Given the description of an element on the screen output the (x, y) to click on. 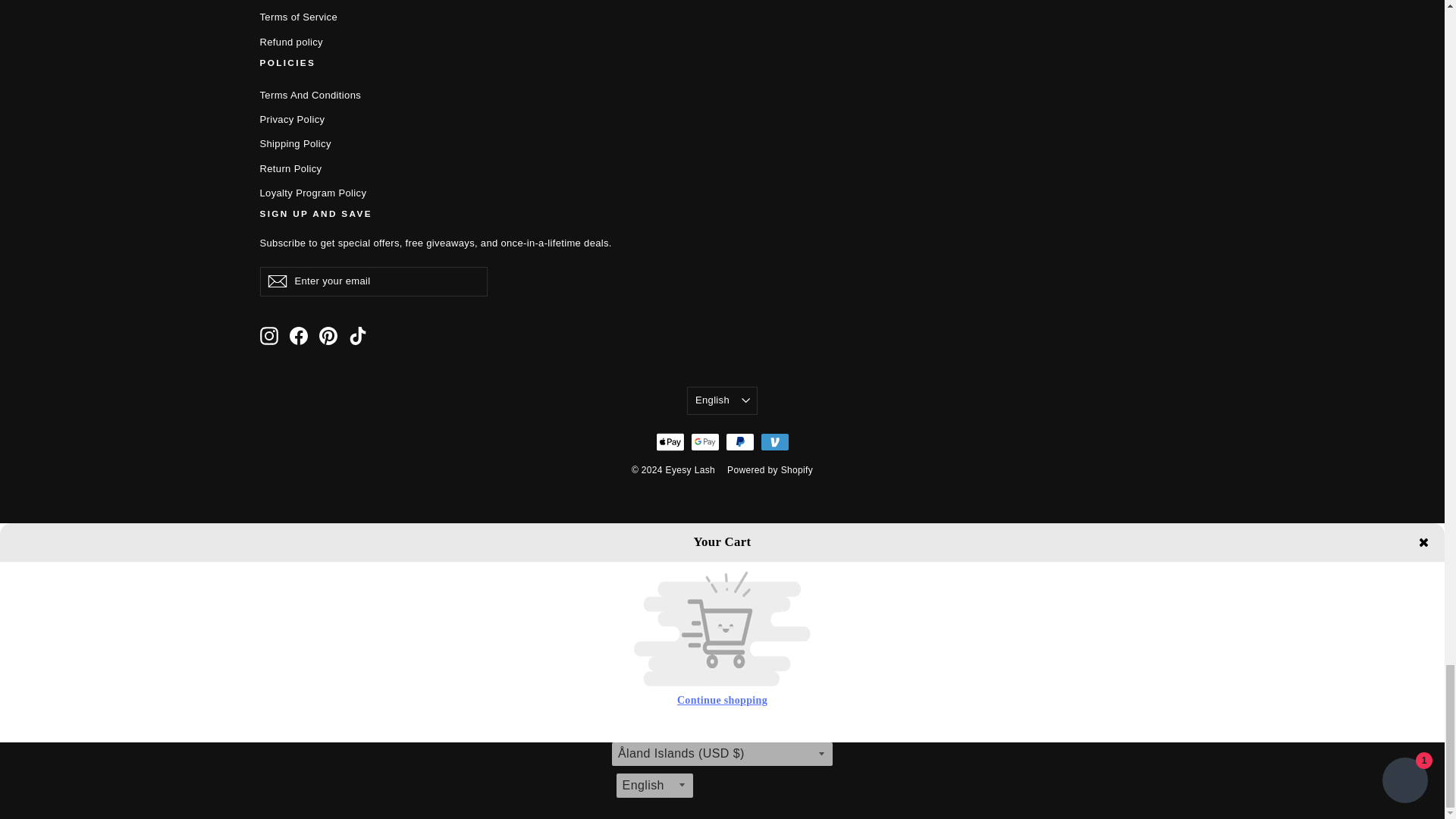
Eyesy Lash on Facebook (298, 335)
Eyesy Lash on Instagram (268, 335)
Eyesy Lash on TikTok (357, 335)
Apple Pay (669, 442)
PayPal (739, 442)
Google Pay (704, 442)
Eyesy Lash on Pinterest (327, 335)
